Given the description of an element on the screen output the (x, y) to click on. 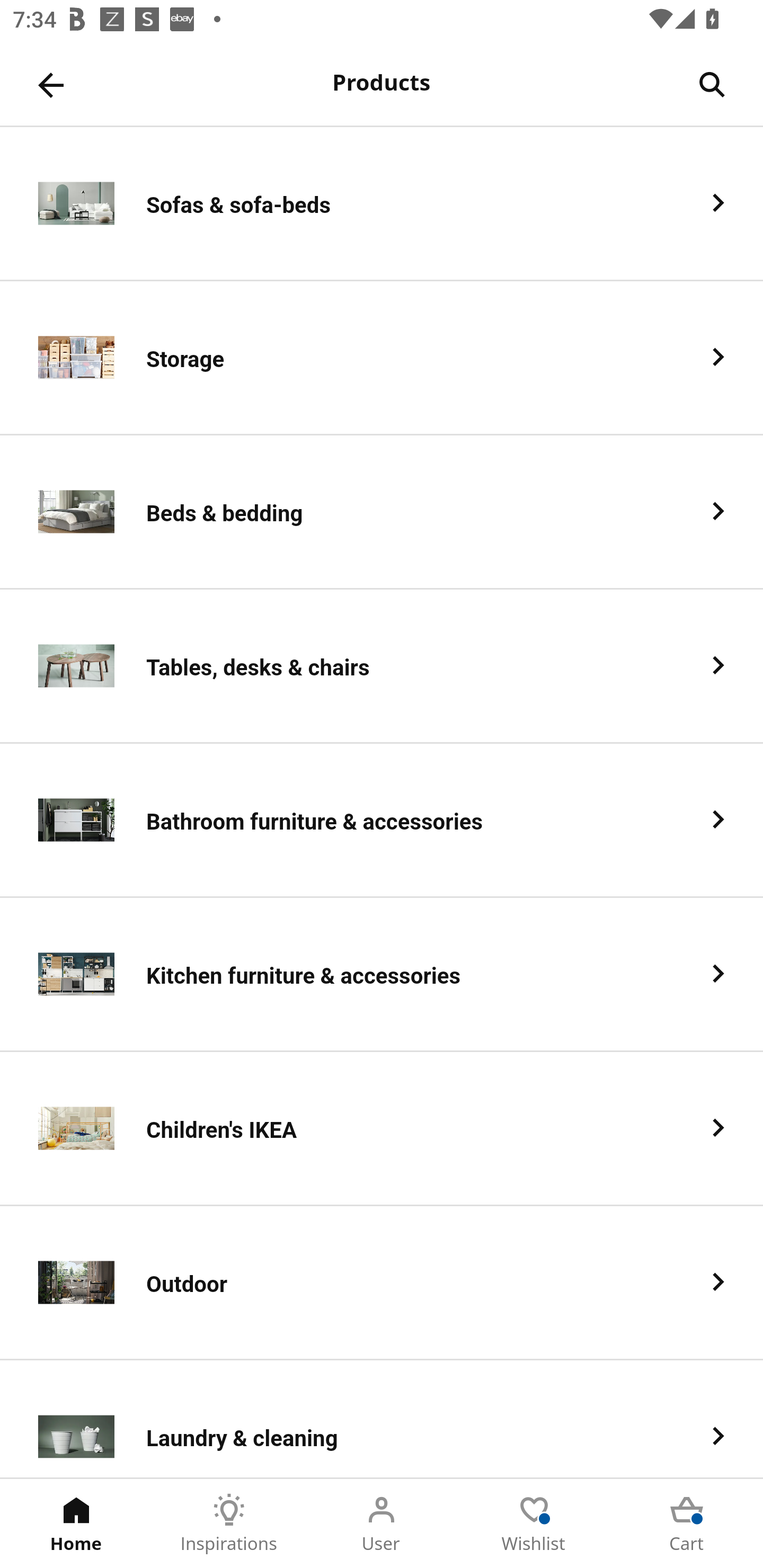
Sofas & sofa-beds (381, 203)
Storage (381, 357)
Beds & bedding (381, 512)
Tables, desks & chairs (381, 666)
Bathroom furniture & accessories (381, 820)
Kitchen furniture & accessories (381, 975)
Children's IKEA (381, 1128)
Outdoor (381, 1283)
Laundry & cleaning (381, 1419)
Home
Tab 1 of 5 (76, 1522)
Inspirations
Tab 2 of 5 (228, 1522)
User
Tab 3 of 5 (381, 1522)
Wishlist
Tab 4 of 5 (533, 1522)
Cart
Tab 5 of 5 (686, 1522)
